Given the description of an element on the screen output the (x, y) to click on. 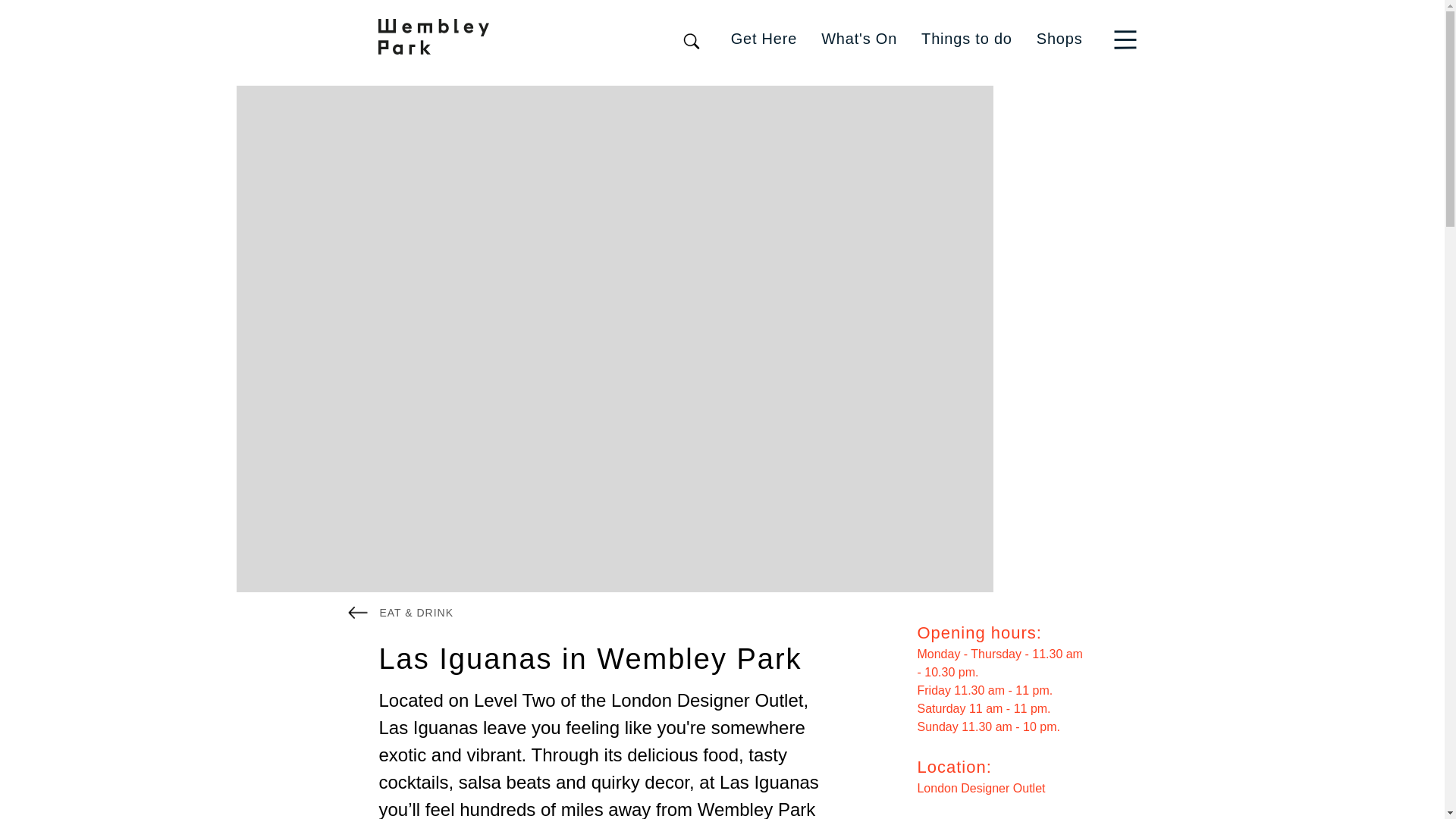
Shops (1059, 38)
What's On (858, 38)
Get Here (763, 38)
Slice 1 Created with Sketch. (1125, 39)
Things to do (966, 38)
Slice 1 Created with Sketch. (1128, 37)
